Given the description of an element on the screen output the (x, y) to click on. 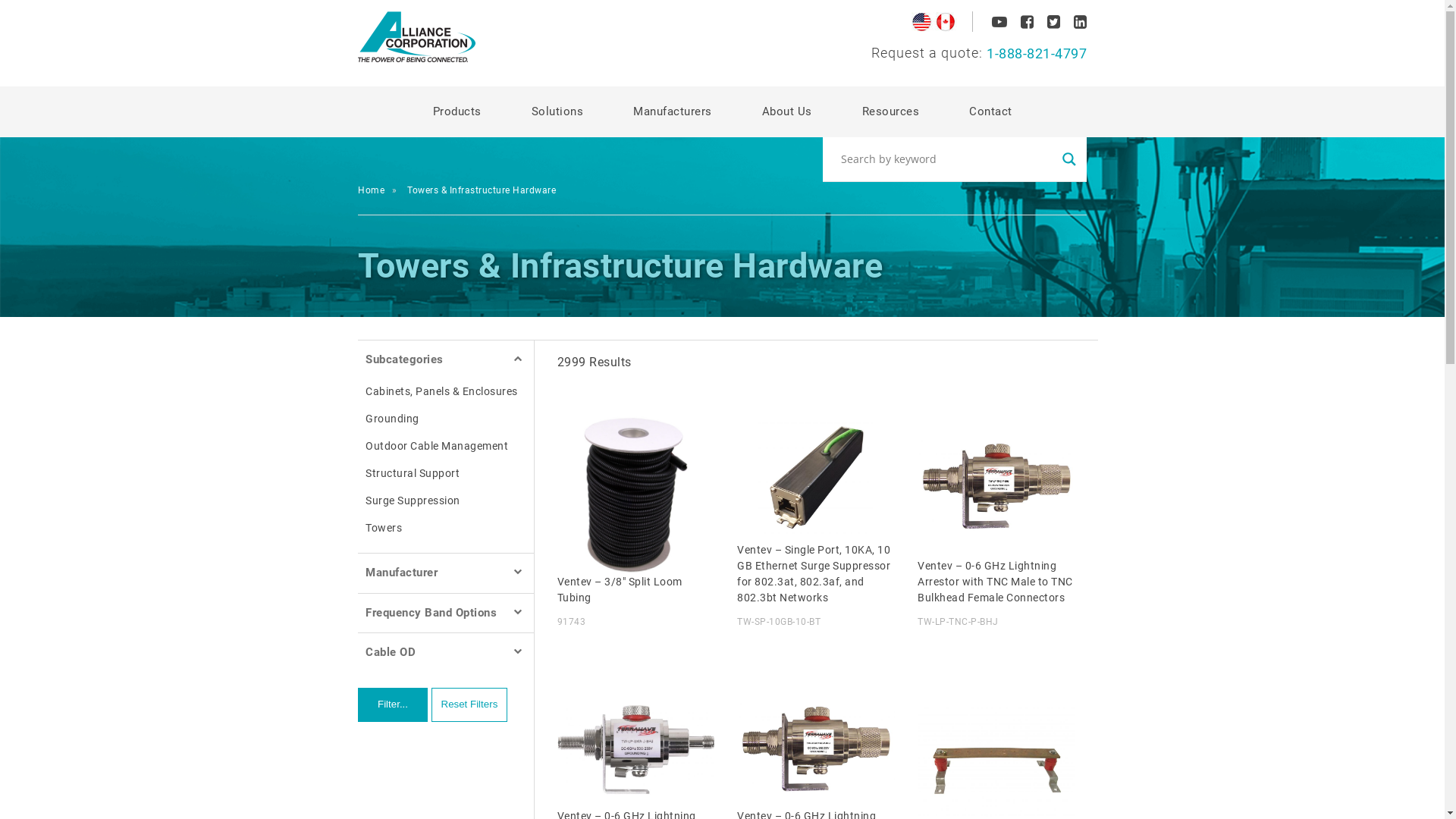
Contact Element type: text (990, 111)
Structural Support Element type: text (445, 473)
Manufacturers Element type: text (672, 111)
Grounding Element type: text (445, 418)
Cabinets, Panels & Enclosures Element type: text (445, 391)
Outdoor Cable Management Element type: text (445, 445)
Towers Element type: text (445, 527)
Solutions Element type: text (556, 111)
Start search Element type: text (840, 169)
Home Element type: text (380, 190)
About Us Element type: text (786, 111)
1-888-821-4797 Element type: text (978, 54)
Reset Filters Element type: text (468, 704)
Filter... Element type: text (392, 704)
Products Element type: text (456, 111)
Surge Suppression Element type: text (445, 500)
Resources Element type: text (889, 111)
